Given the description of an element on the screen output the (x, y) to click on. 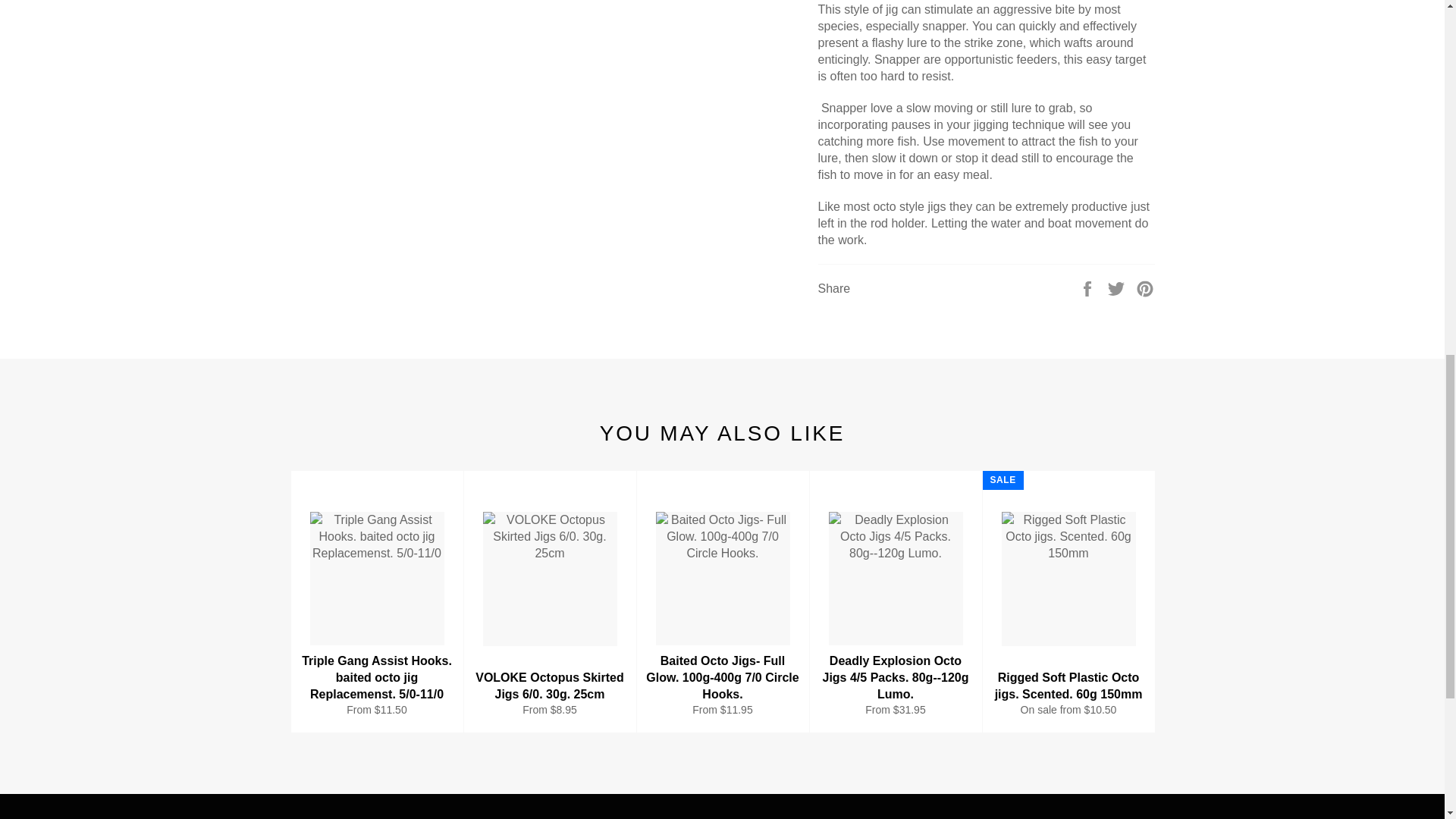
Share on Facebook (1088, 287)
Tweet on Twitter (1117, 287)
Pin on Pinterest (1144, 287)
